Given the description of an element on the screen output the (x, y) to click on. 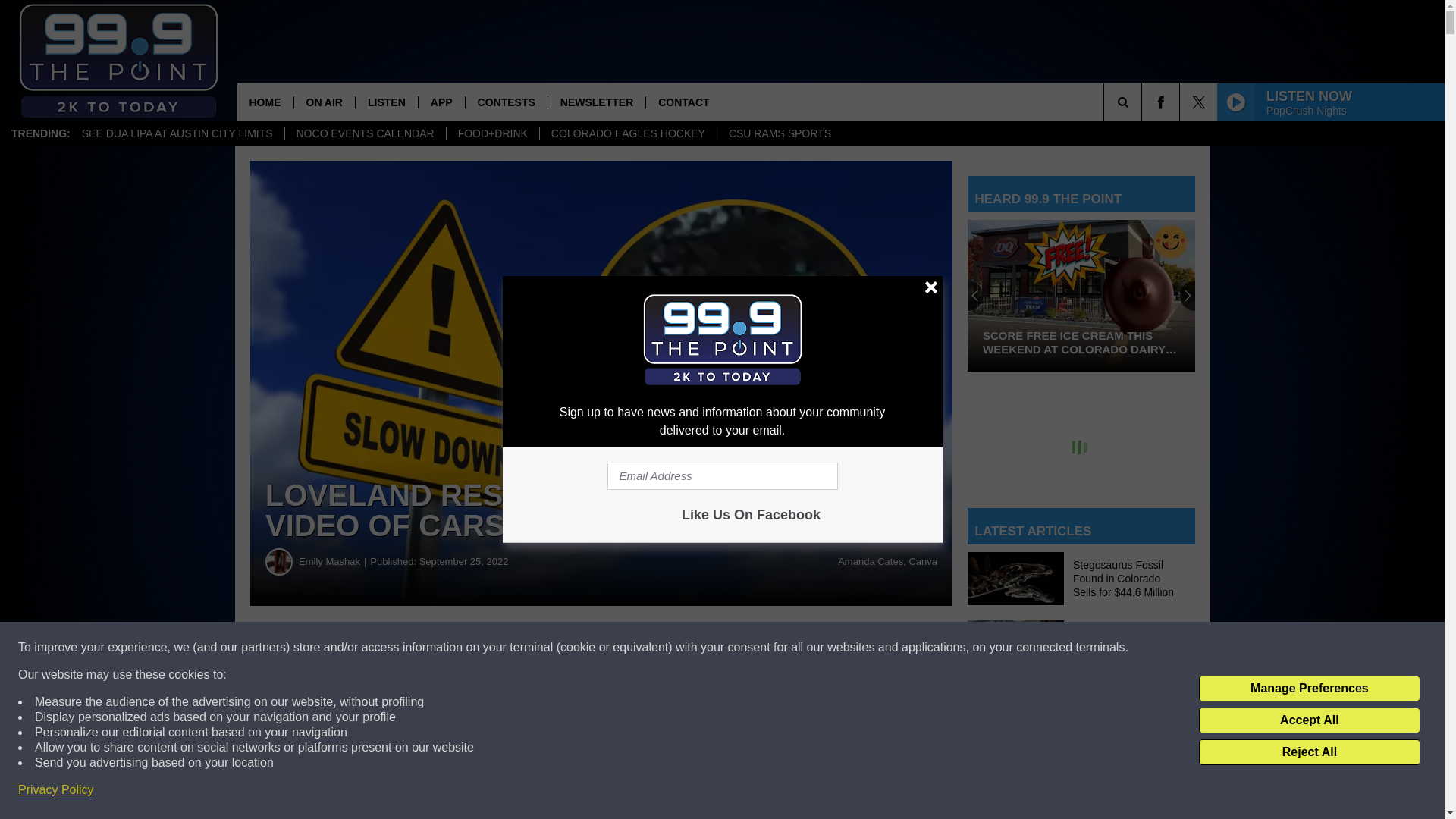
CONTACT (682, 102)
Reject All (1309, 751)
Share on Facebook (460, 647)
Accept All (1309, 720)
SEE DUA LIPA AT AUSTIN CITY LIMITS (176, 133)
ON AIR (322, 102)
NEWSLETTER (596, 102)
LISTEN (386, 102)
SEARCH (1144, 102)
CONTESTS (505, 102)
Share on Twitter (741, 647)
SEARCH (1144, 102)
Manage Preferences (1309, 688)
COLORADO EAGLES HOCKEY (627, 133)
APP (440, 102)
